Given the description of an element on the screen output the (x, y) to click on. 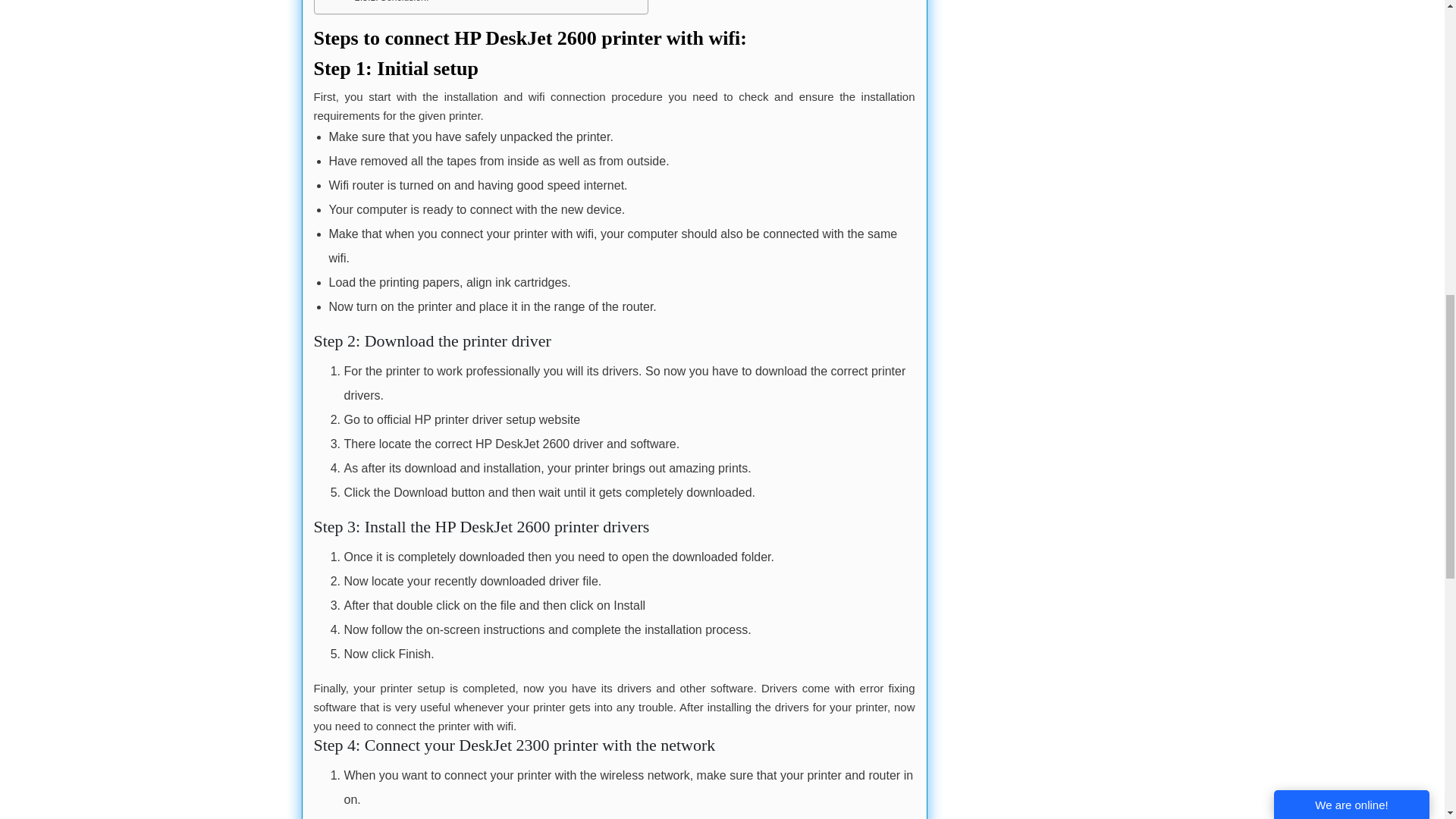
Conclusion: (392, 2)
Conclusion: (392, 2)
